Given the description of an element on the screen output the (x, y) to click on. 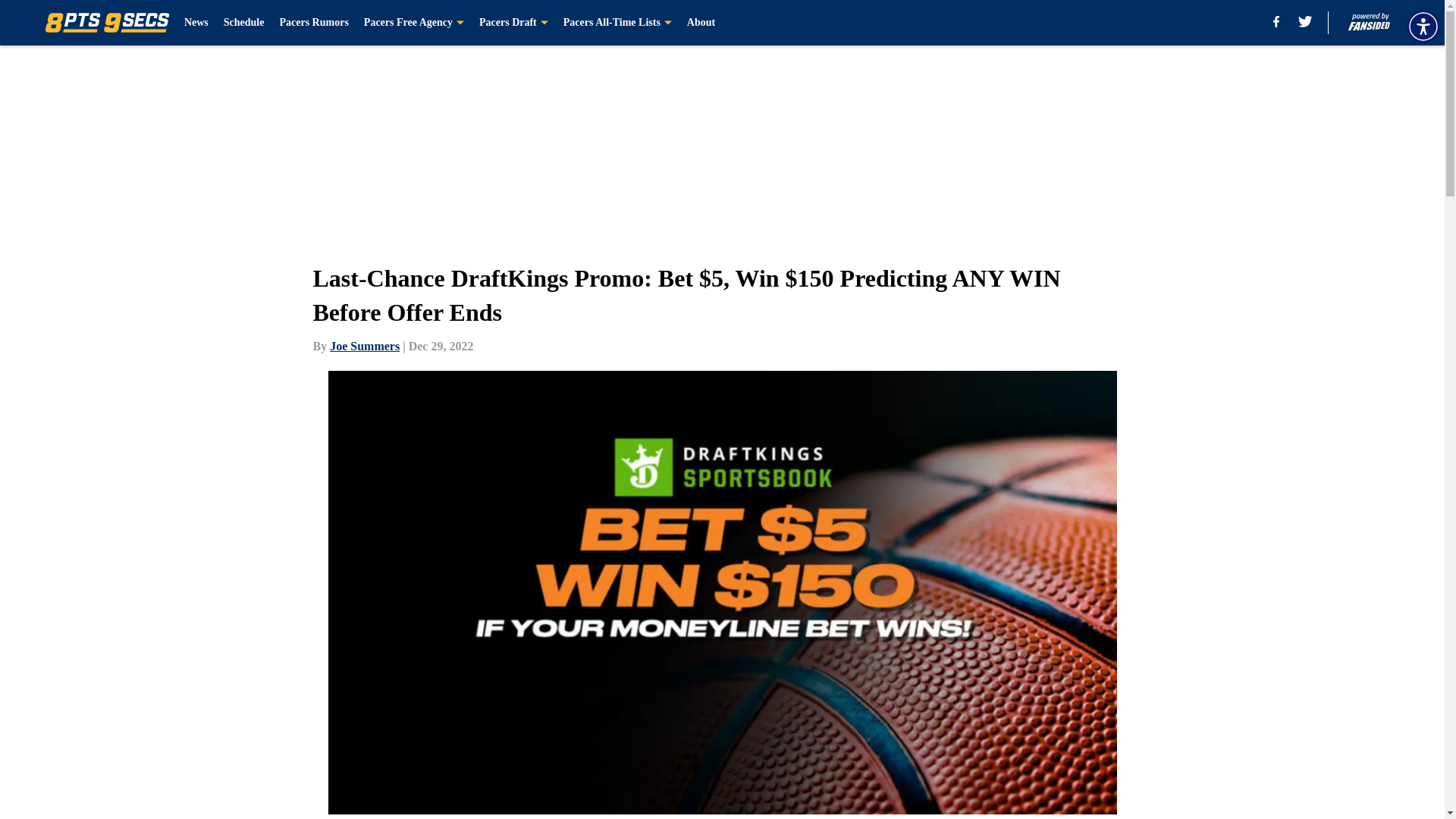
News (196, 22)
Joe Summers (364, 345)
About (700, 22)
Schedule (244, 22)
Accessibility Menu (1422, 26)
Pacers Rumors (313, 22)
